Given the description of an element on the screen output the (x, y) to click on. 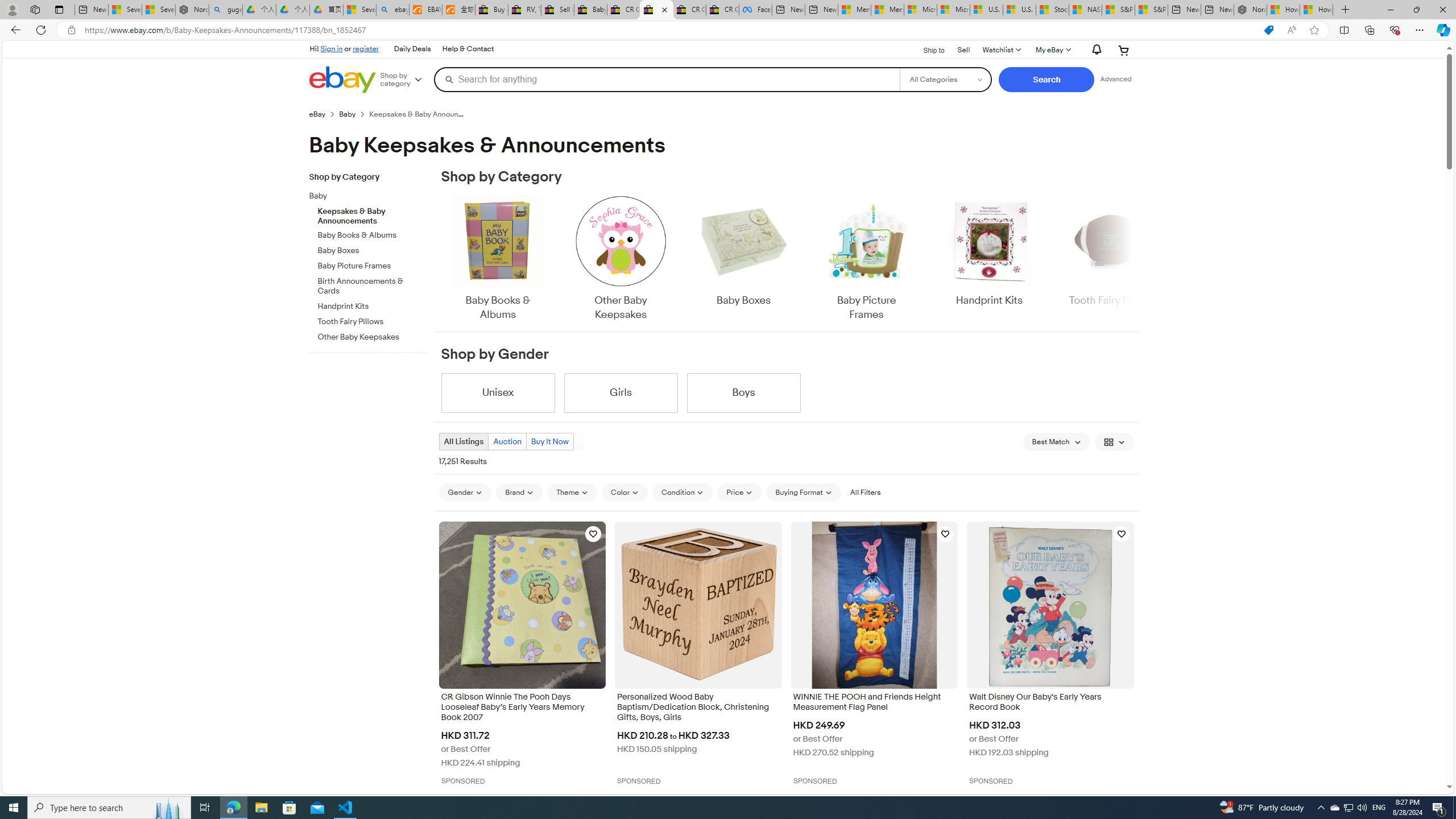
App bar (728, 29)
eBay Home (341, 79)
Select a category for search (945, 78)
eBay (317, 113)
Sell (963, 49)
Watchlist (1000, 49)
Sort: Best Match (1056, 441)
eBay Home (341, 79)
Split screen (1344, 29)
Girls (620, 392)
